Given the description of an element on the screen output the (x, y) to click on. 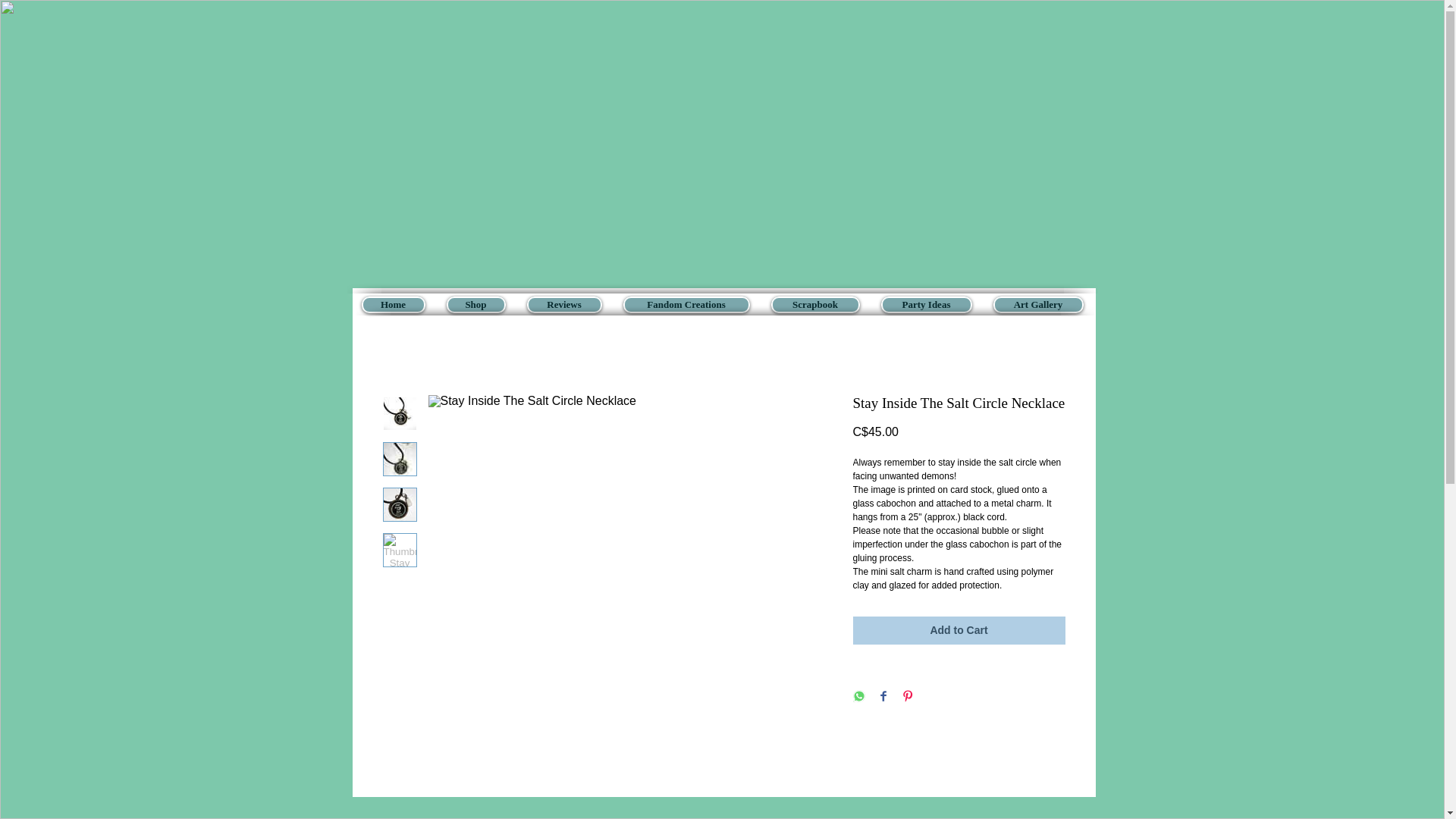
Art Gallery (1037, 304)
Reviews (563, 304)
Add to Cart (957, 630)
Home (393, 304)
Fandom Creations (686, 304)
Scrapbook (814, 304)
